Given the description of an element on the screen output the (x, y) to click on. 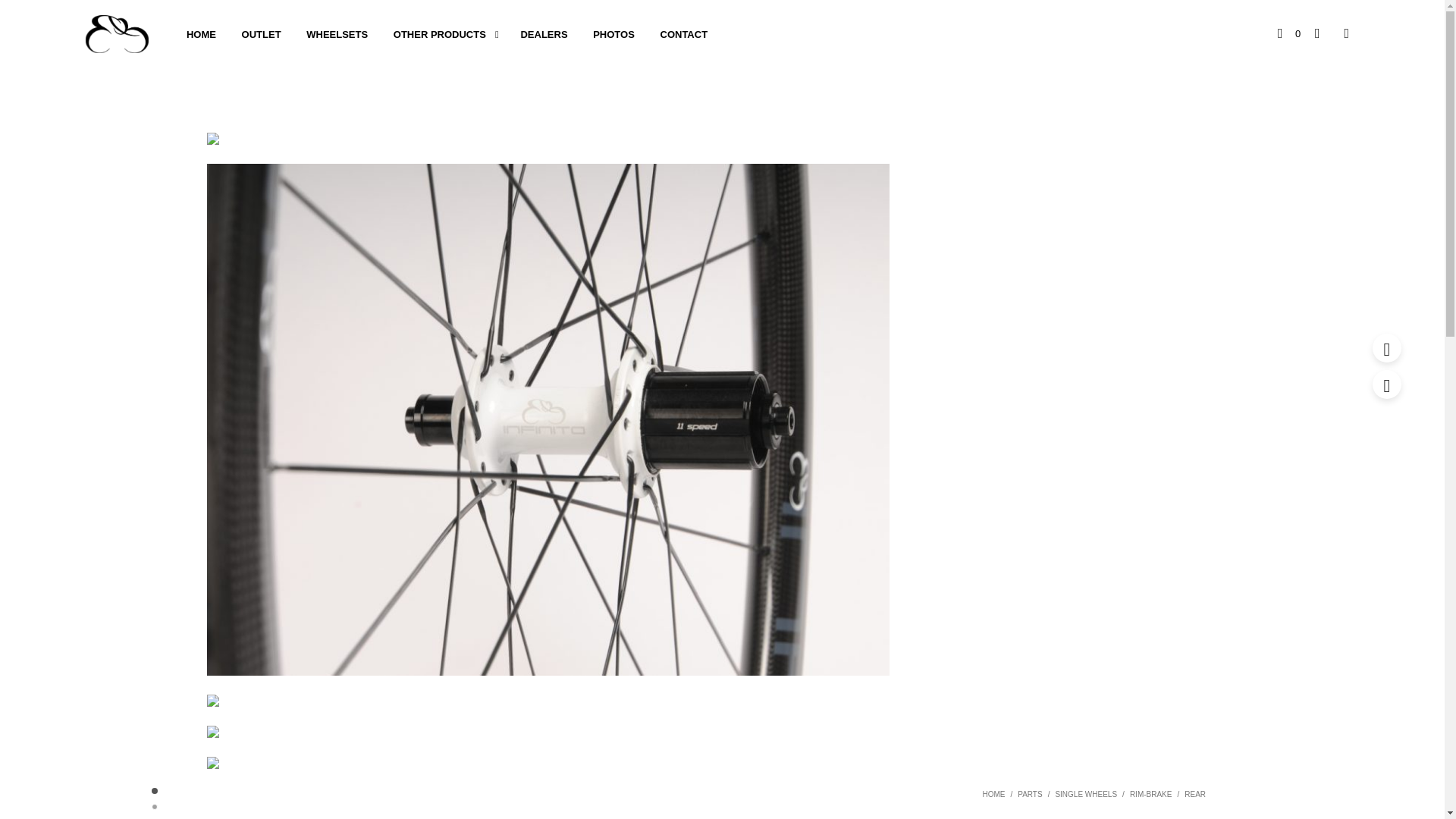
HOME (200, 34)
DEALERS (543, 34)
RIM-BRAKE (1150, 794)
REAR (1195, 794)
OUTLET (261, 34)
PARTS (1029, 794)
0 (1289, 33)
OTHER PRODUCTS (439, 34)
HOME (992, 794)
WHEELSETS (336, 34)
PHOTOS (613, 34)
CONTACT (684, 34)
SINGLE WHEELS (1085, 794)
